Given the description of an element on the screen output the (x, y) to click on. 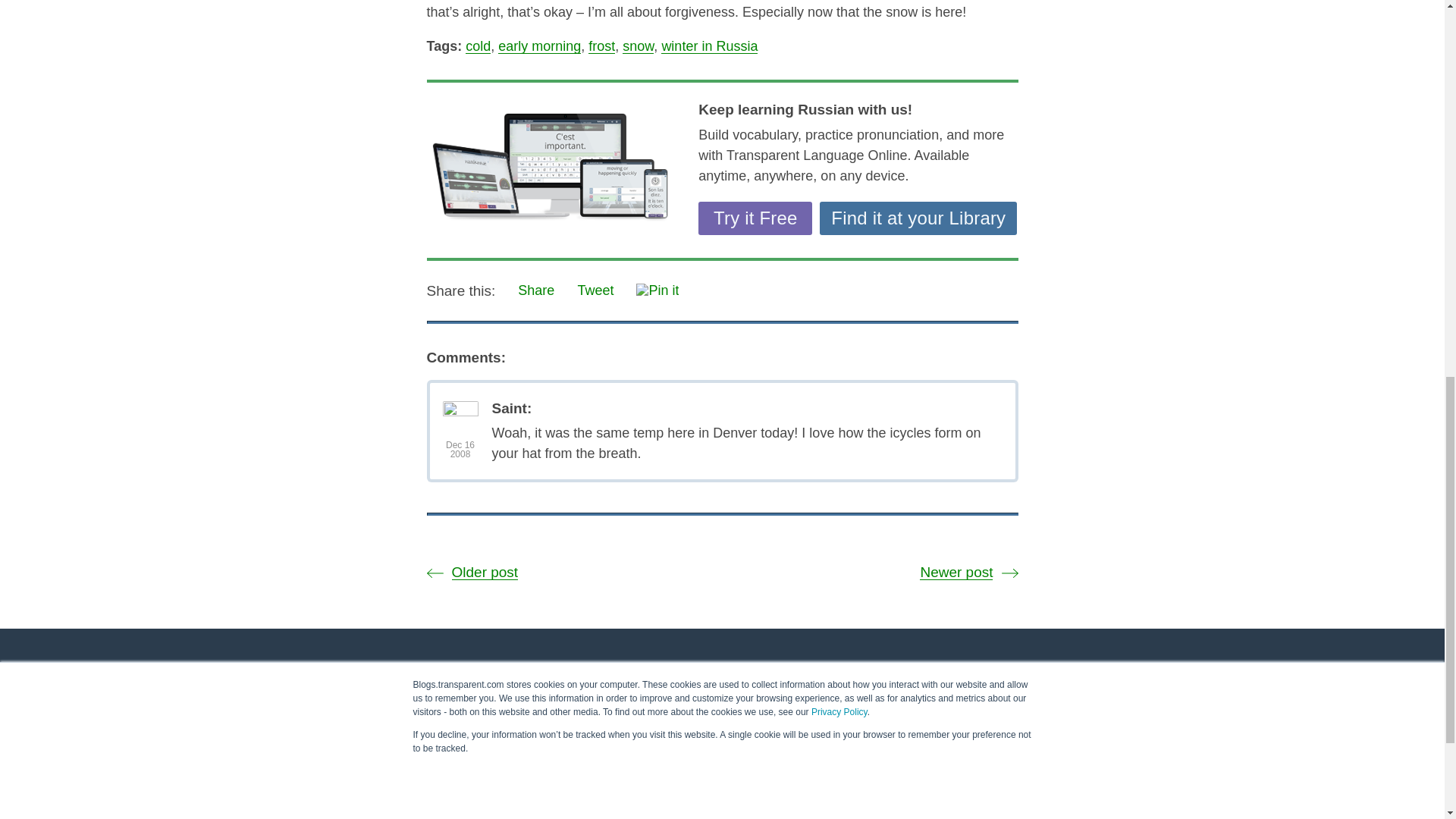
Twitter (1028, 723)
Instagram (986, 723)
LinkedIn (1113, 723)
Facebook (1070, 723)
Dec 15, 2008 (459, 449)
YouTube (1155, 723)
Try it Free (755, 218)
Find it at your Library (917, 218)
